Given the description of an element on the screen output the (x, y) to click on. 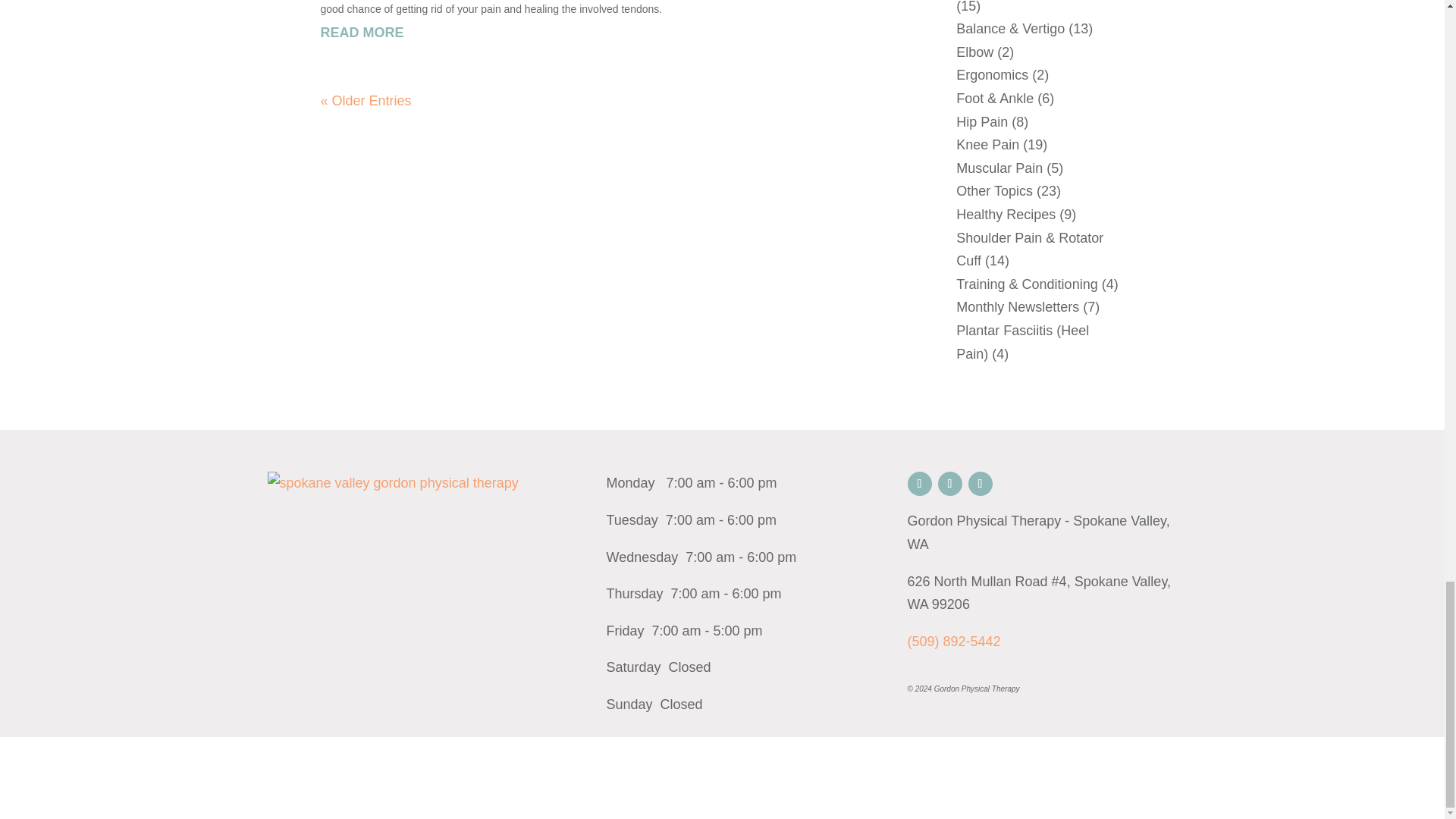
Follow on Facebook (979, 483)
Follow on Instagram (919, 483)
Follow on Youtube (948, 483)
